Given the description of an element on the screen output the (x, y) to click on. 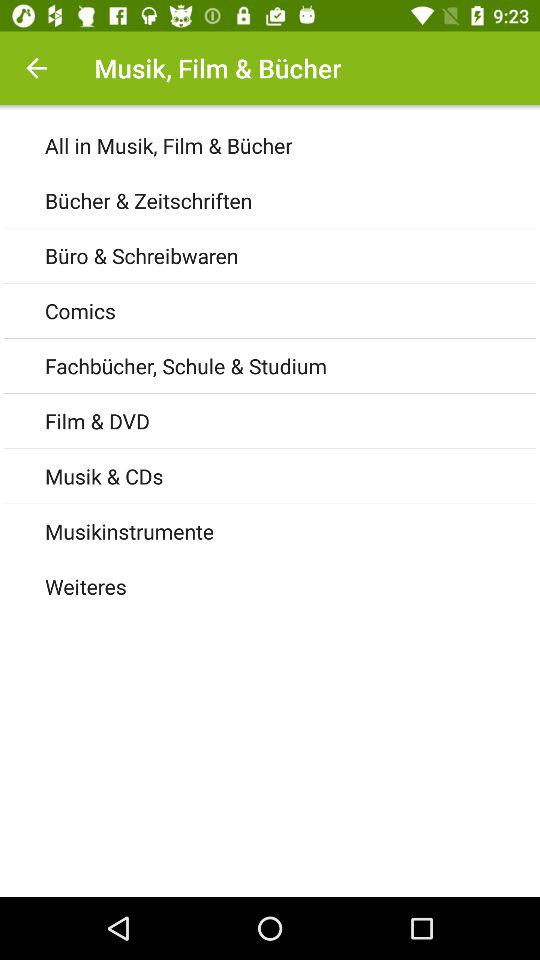
choose icon below the musikinstrumente icon (292, 586)
